Given the description of an element on the screen output the (x, y) to click on. 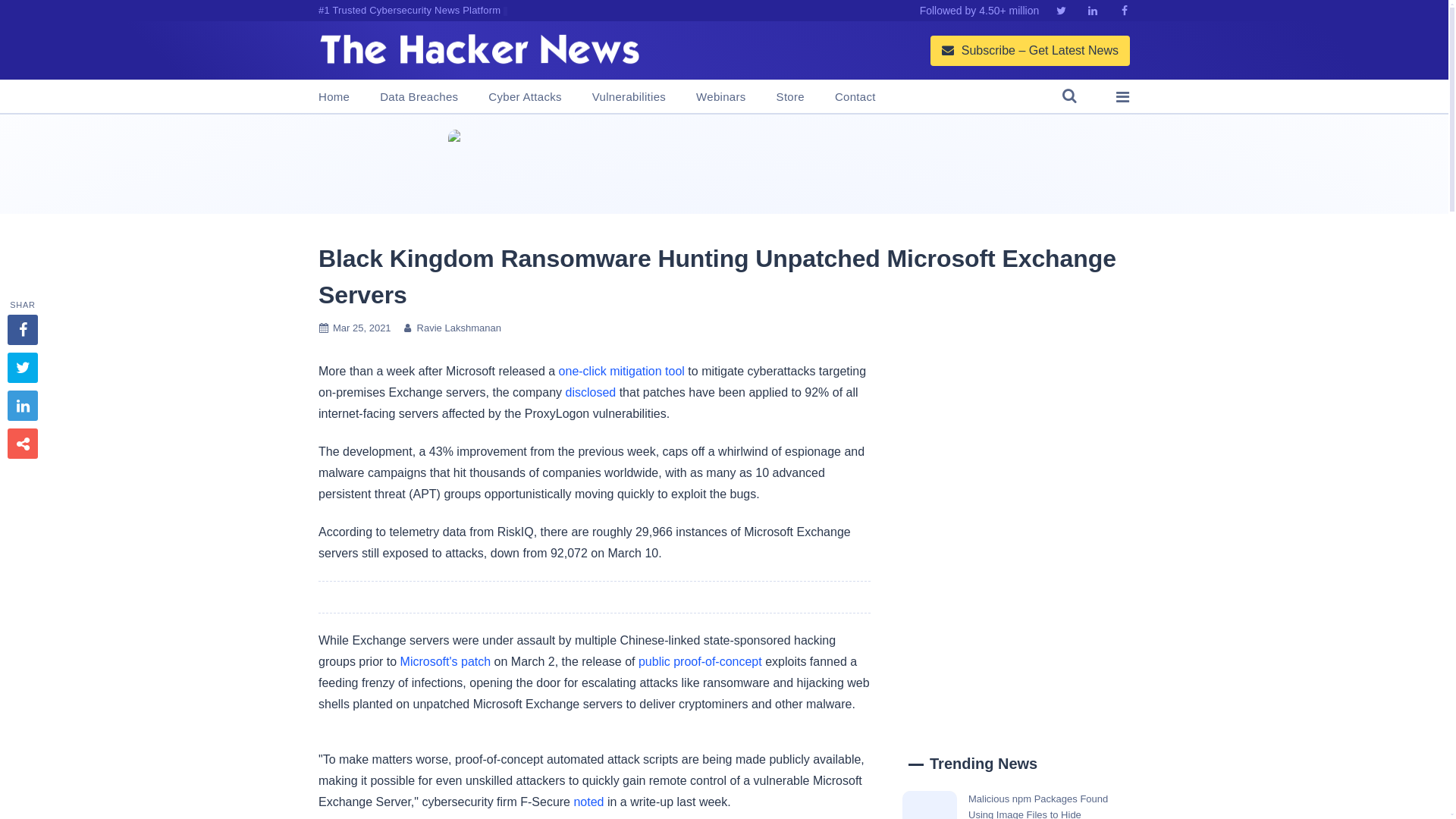
Store (790, 96)
Insider Risk Management (723, 164)
Home (333, 96)
Microsoft's patch (446, 661)
disclosed (589, 391)
Vulnerabilities (628, 96)
Data Breaches (419, 96)
Webinars (720, 96)
Cyber Attacks (523, 96)
Contact (855, 96)
one-click mitigation tool (621, 370)
